Given the description of an element on the screen output the (x, y) to click on. 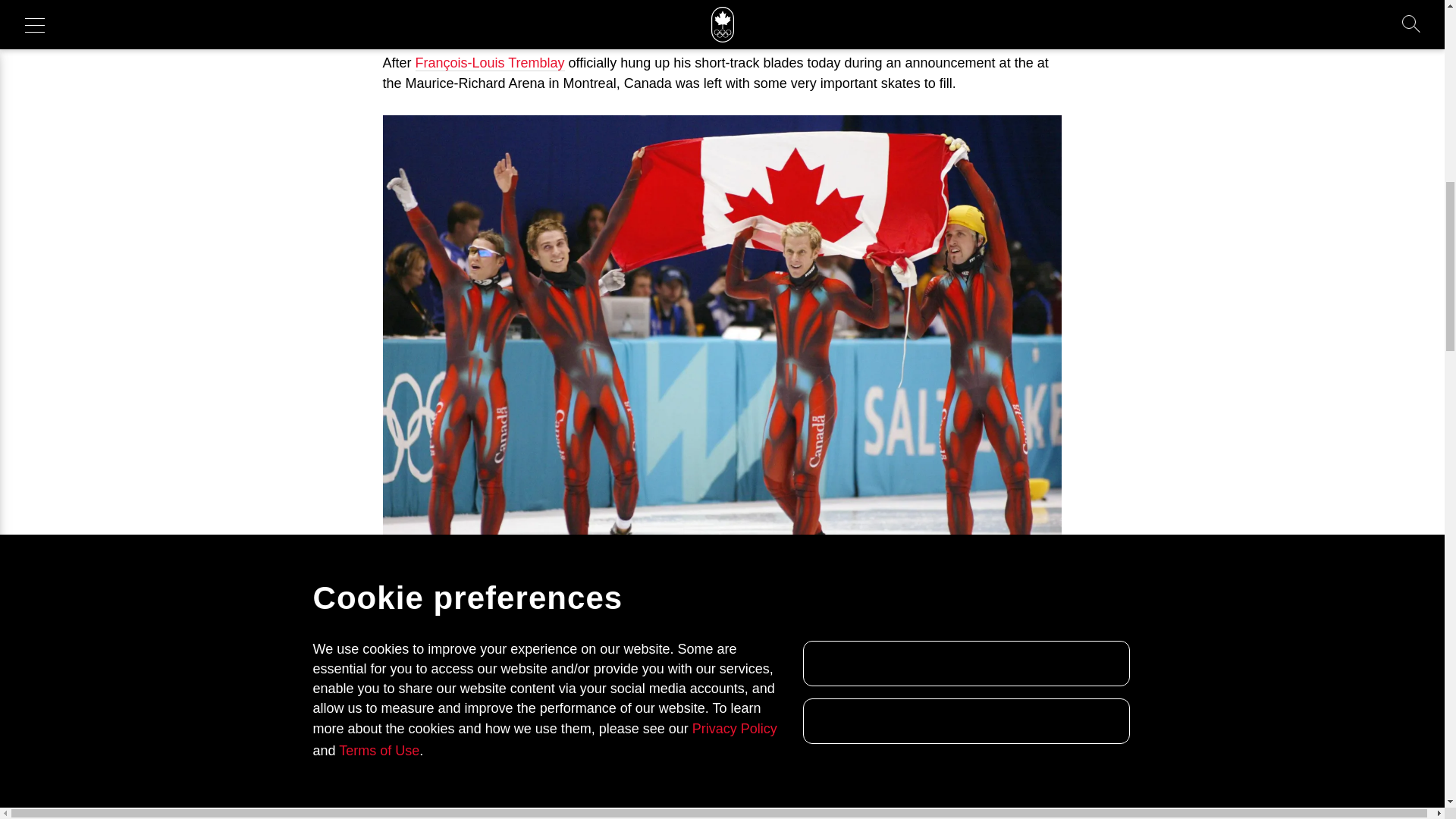
Marc Gagnon (669, 638)
2010 Vancouver (920, 741)
2002 Salt Lake City (439, 741)
Philip Edwards (824, 638)
